Given the description of an element on the screen output the (x, y) to click on. 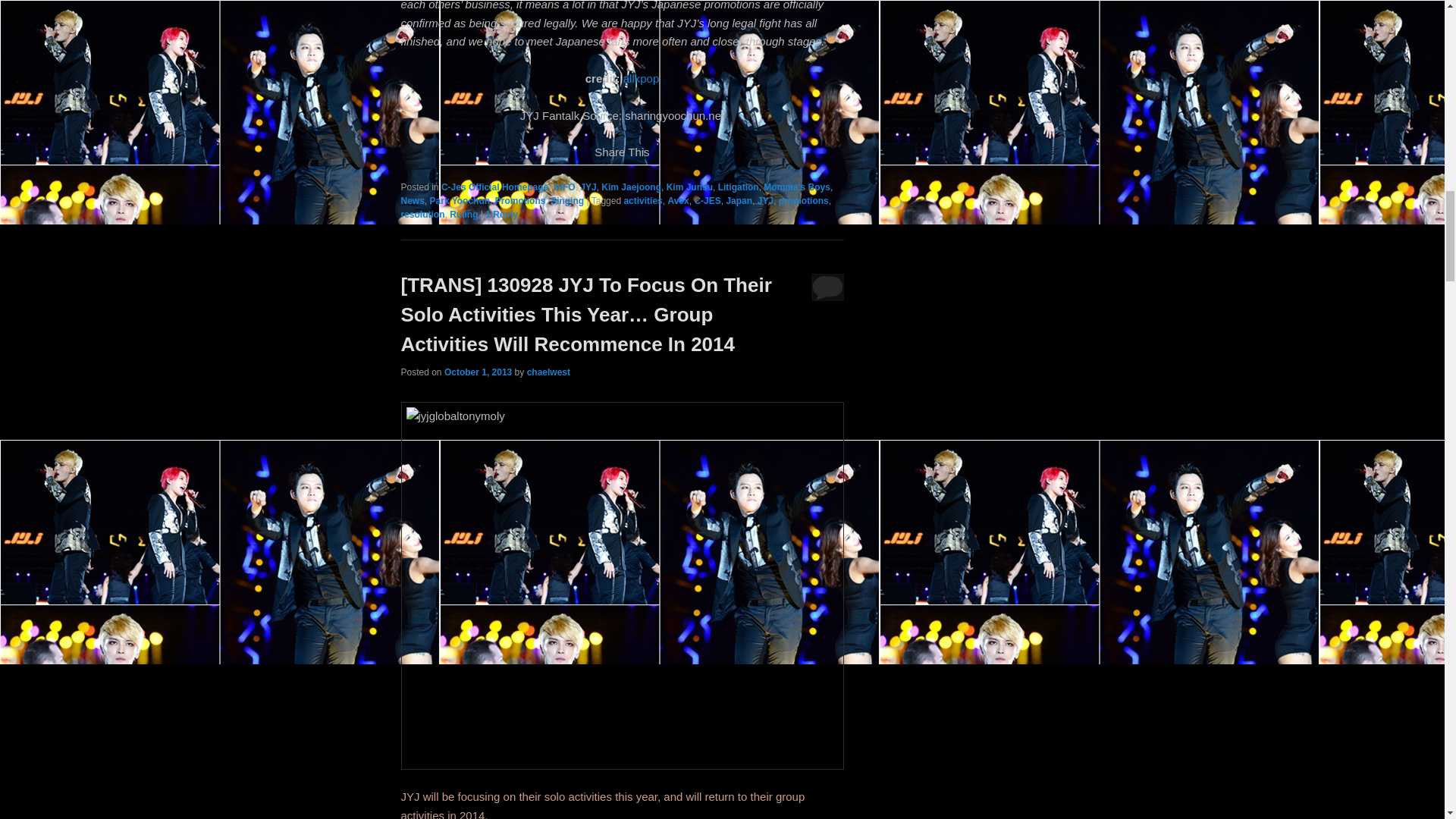
Singing (566, 200)
C-Jes Official Homepage (494, 186)
allkpop (641, 78)
Japan (738, 200)
View all posts by chaelwest (548, 371)
INFO (564, 186)
activities (642, 200)
Kim Junsu (689, 186)
Park Yoochun (459, 200)
Promotions (520, 200)
2:19 pm (478, 371)
Kim Jaejoong (631, 186)
C-JES (707, 200)
News (411, 200)
JYJ (587, 186)
